Given the description of an element on the screen output the (x, y) to click on. 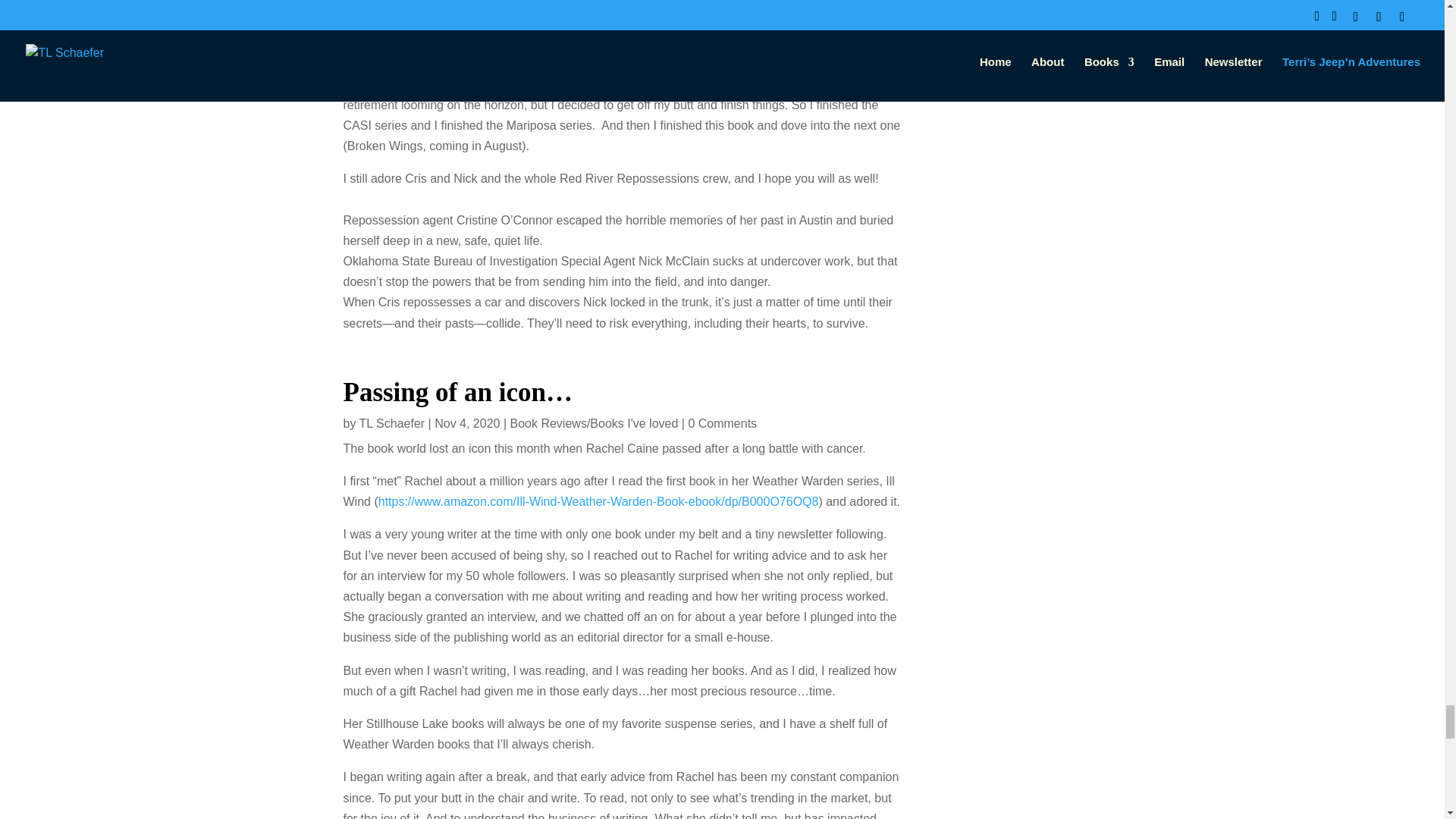
Posts by TL Schaefer (392, 422)
